Given the description of an element on the screen output the (x, y) to click on. 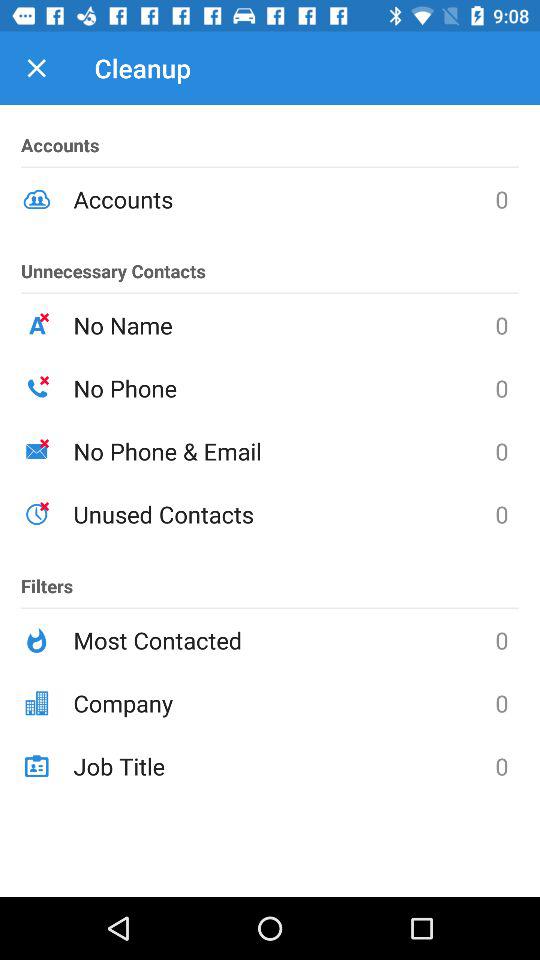
jump until no name icon (284, 325)
